Given the description of an element on the screen output the (x, y) to click on. 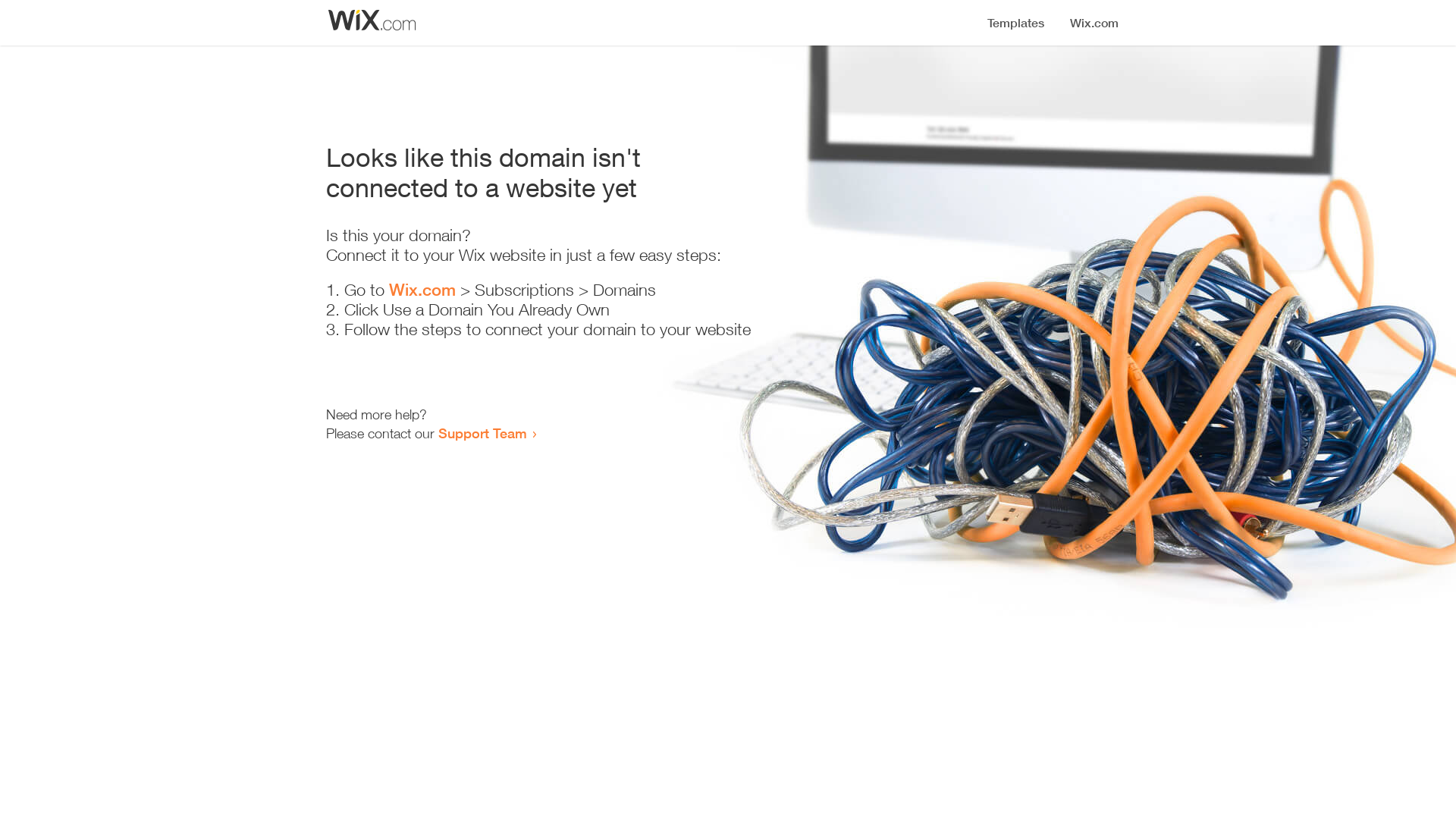
Support Team Element type: text (482, 432)
Wix.com Element type: text (422, 289)
